Given the description of an element on the screen output the (x, y) to click on. 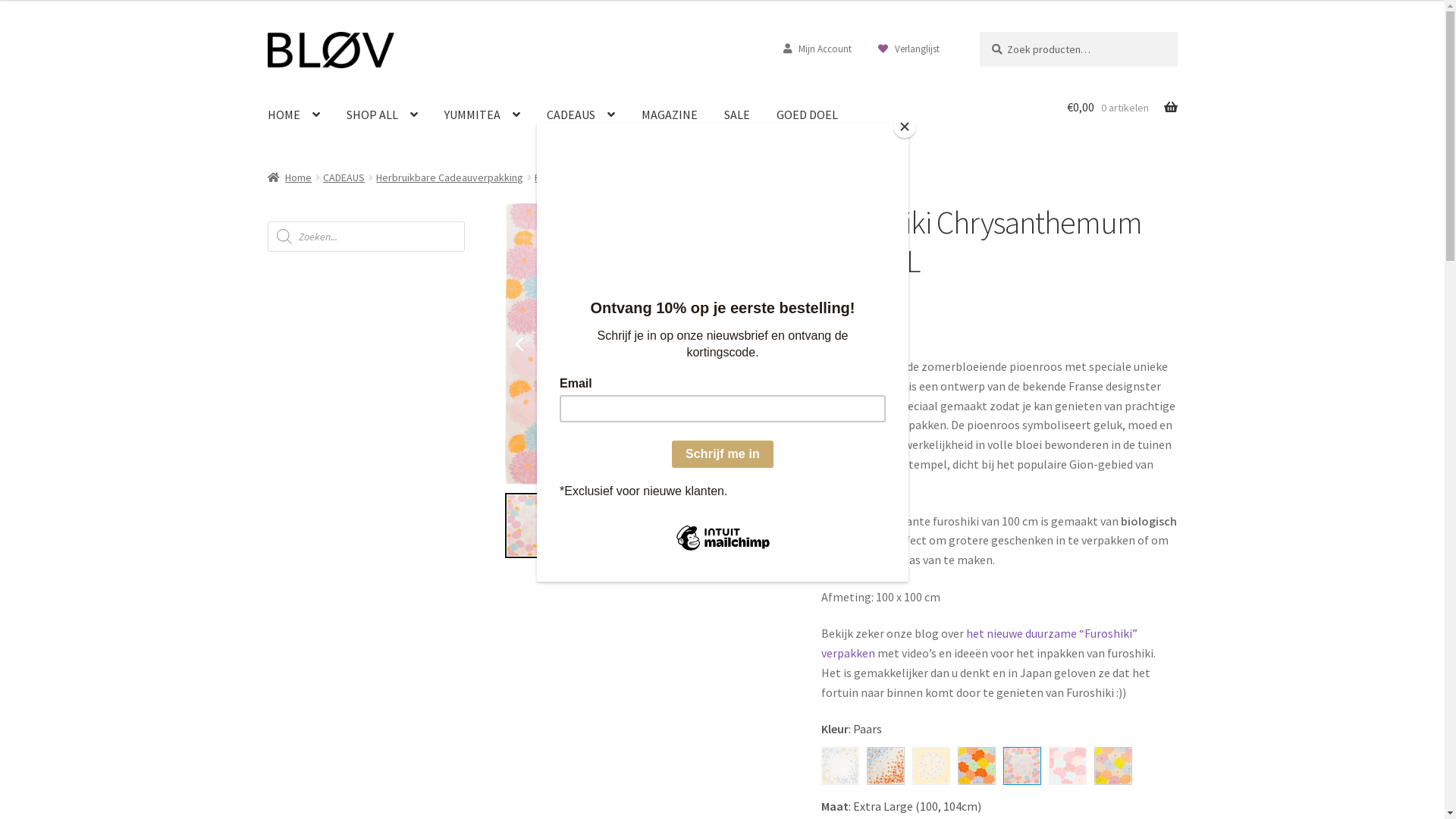
AdelinKlam_Musubi_JapaneseApricot_Paars1 Element type: hover (646, 344)
CADEAUS Element type: text (343, 177)
MAGAZINE Element type: text (669, 114)
  Mijn Account Element type: text (817, 48)
SALE Element type: text (736, 114)
Furoshiki Kersenbloesem Blauw/Geel S Element type: hover (840, 765)
AdelinKlam_Musubi_Peony_1 Element type: hover (755, 525)
Home Element type: text (288, 177)
AdelinKlam_Musubi_Peony_Roze_Tas_1 Element type: hover (363, 344)
CADEAUS Element type: text (579, 114)
Furoshiki Pioenroos Roze XL Element type: hover (1113, 765)
AdelinKlam_Musubi_JapaneseApricot_Paars1 Element type: hover (537, 525)
Furoshiki Pioenroos Rood S Element type: hover (1067, 765)
YUMMITEA Element type: text (482, 114)
Furoshiki Pioenroos Oranje XL Element type: hover (976, 765)
Herbruikbare Cadeauverpakking Element type: text (449, 177)
SHOP ALL Element type: text (381, 114)
  Verlanglijst Element type: text (902, 48)
AdelinKlam_Musubi_Peony_Roze_2 Element type: hover (610, 525)
Zoeken Element type: text (979, 31)
Furoshiki Doeken Element type: text (573, 177)
Ga door naar navigatie Element type: text (266, 31)
GOED DOEL Element type: text (807, 114)
HOME Element type: text (292, 114)
Furoshiki Kraanvogel Geel S Element type: hover (931, 765)
AdelinKlam_Musubi_Tas_2 Element type: hover (682, 525)
